Given the description of an element on the screen output the (x, y) to click on. 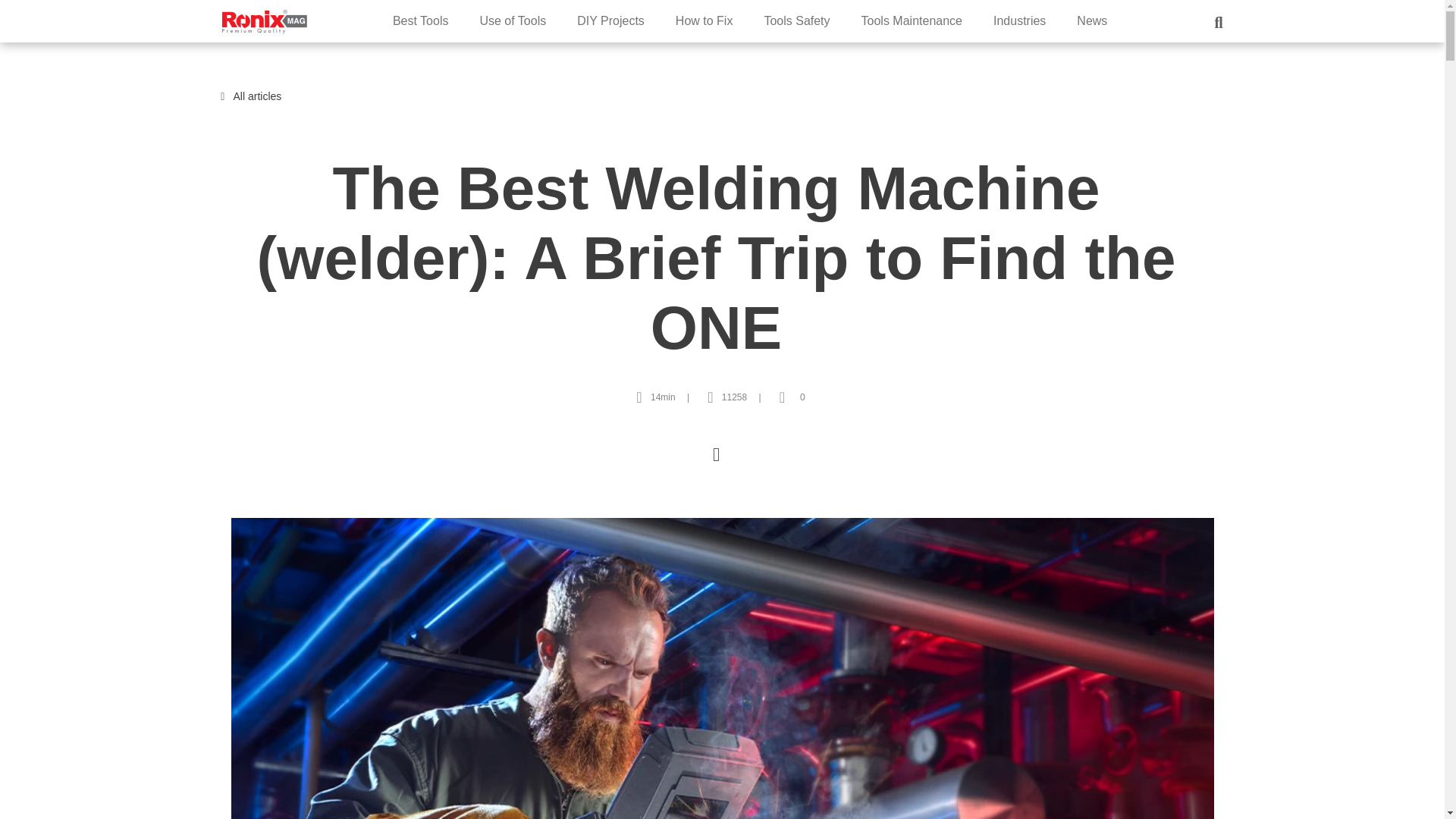
How to Fix (704, 20)
Best Tools (420, 20)
Tools Safety (796, 20)
News (1091, 20)
Tools Maintenance (912, 20)
DIY Projects (610, 20)
Industries (1019, 20)
All articles (254, 96)
Use of Tools (512, 20)
